Given the description of an element on the screen output the (x, y) to click on. 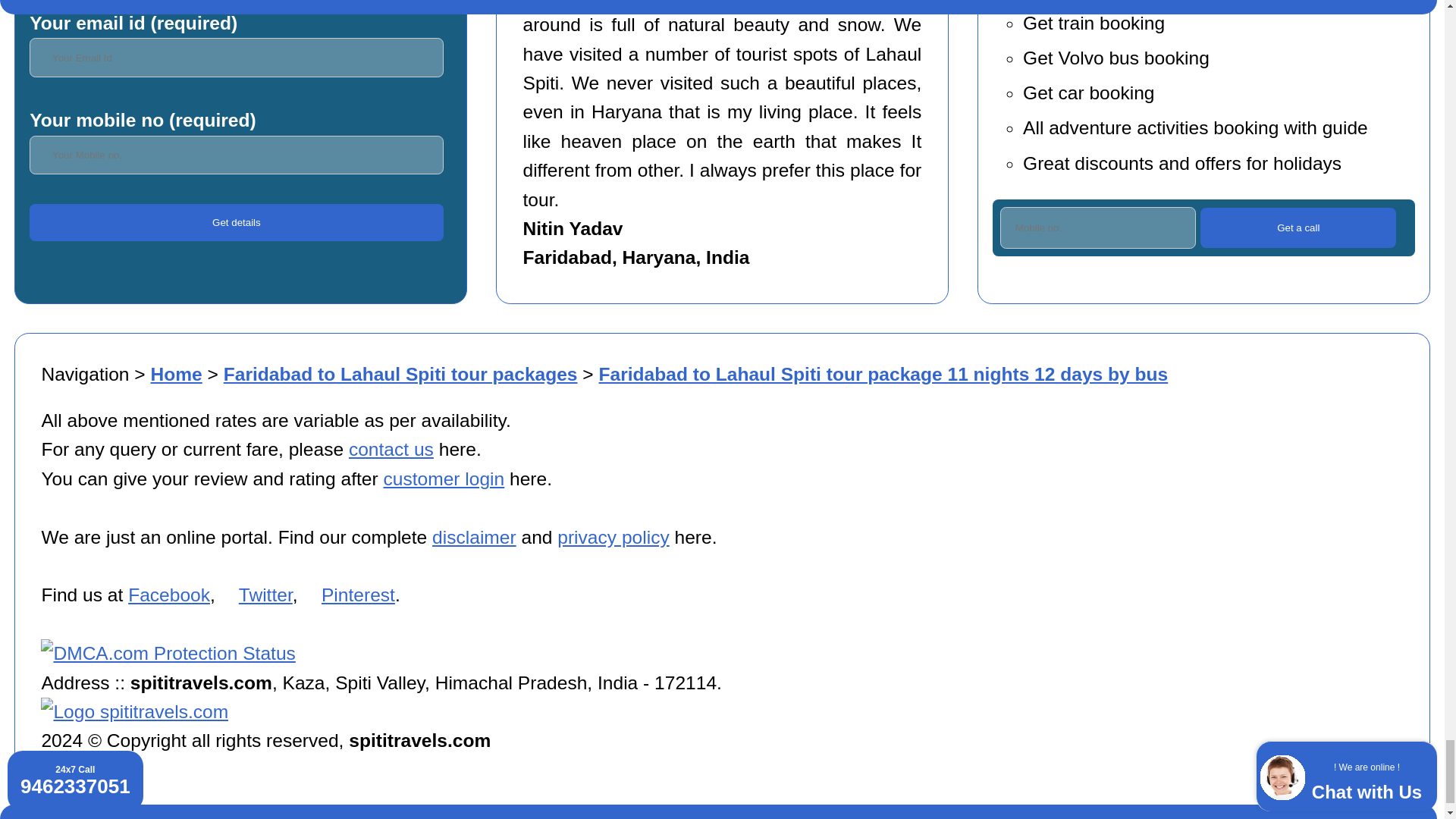
Get details (235, 222)
Enter your Mo. no. only digits (1097, 227)
Get a call (1297, 228)
Enter Email Id. (235, 56)
Enter your Mo. no. only digits (235, 155)
DMCA.com Protection Status (167, 652)
Logo spititravels.com (134, 711)
